Given the description of an element on the screen output the (x, y) to click on. 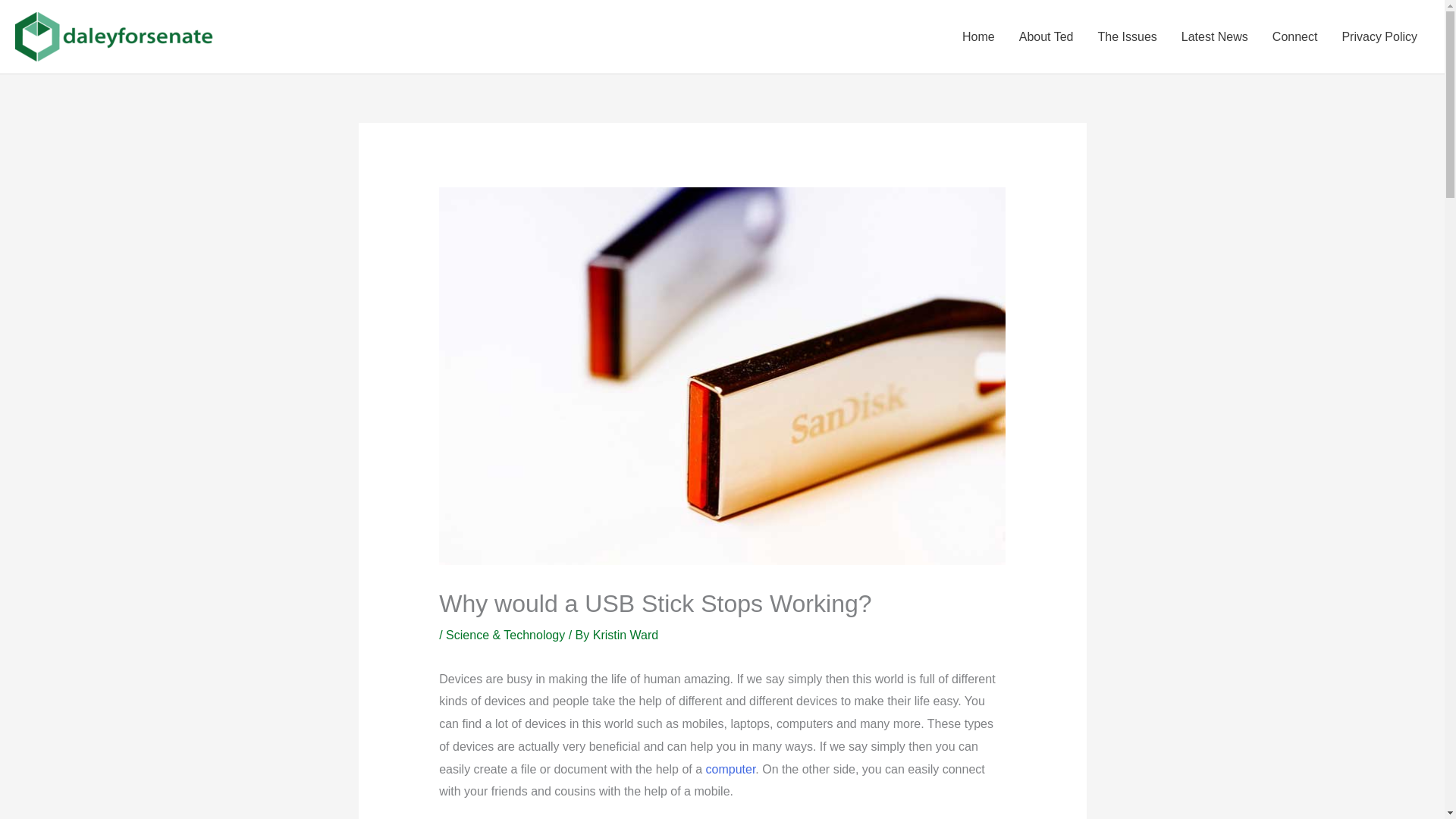
The Issues (1127, 36)
Kristin Ward (625, 634)
Home (978, 36)
computer (730, 768)
Privacy Policy (1379, 36)
Latest News (1214, 36)
View all posts by Kristin Ward (625, 634)
